Given the description of an element on the screen output the (x, y) to click on. 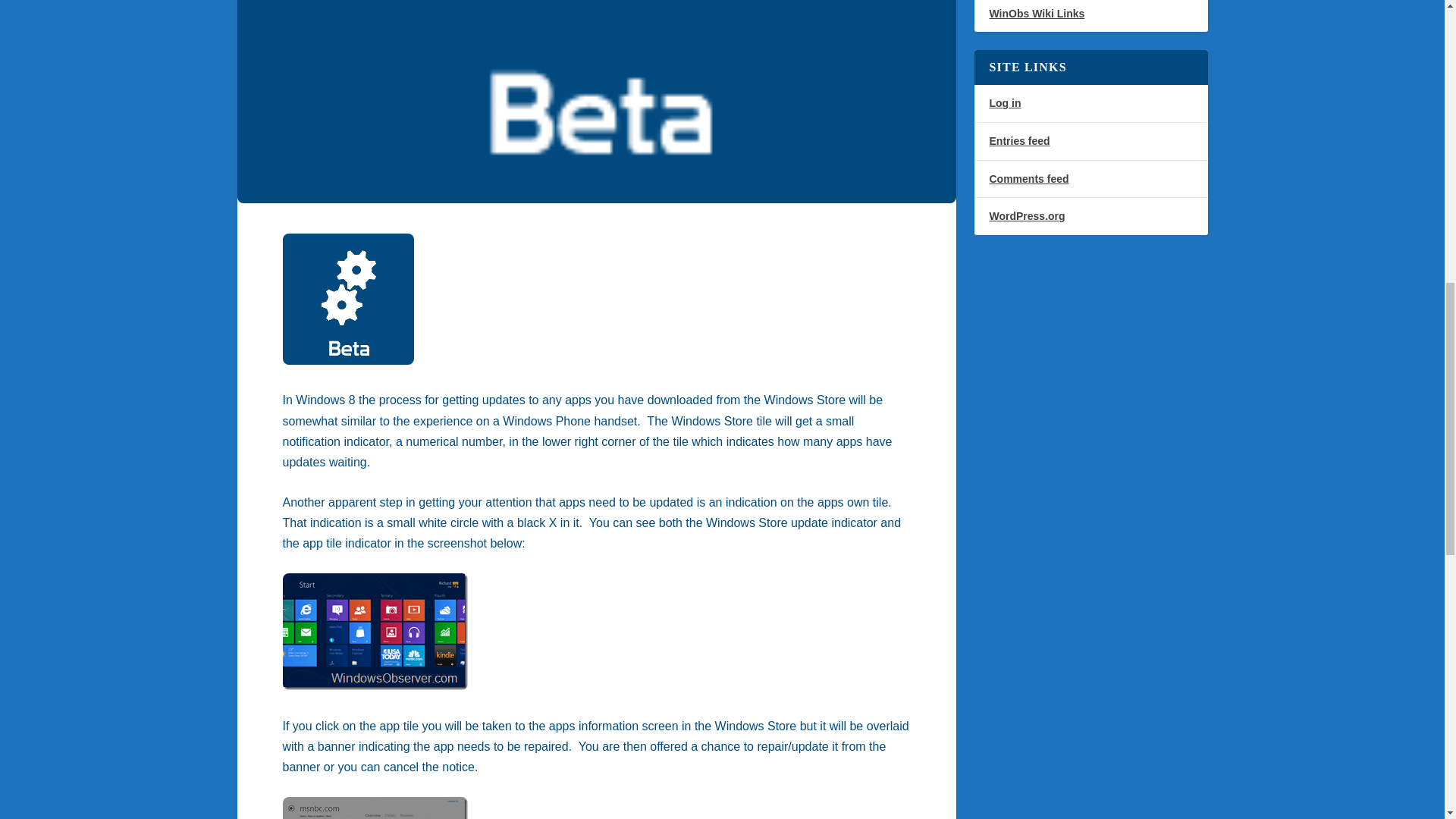
betalogo (347, 298)
windows8appneedsrepairednotification (374, 807)
windows8startscreenrepairappsindicator (374, 631)
